Given the description of an element on the screen output the (x, y) to click on. 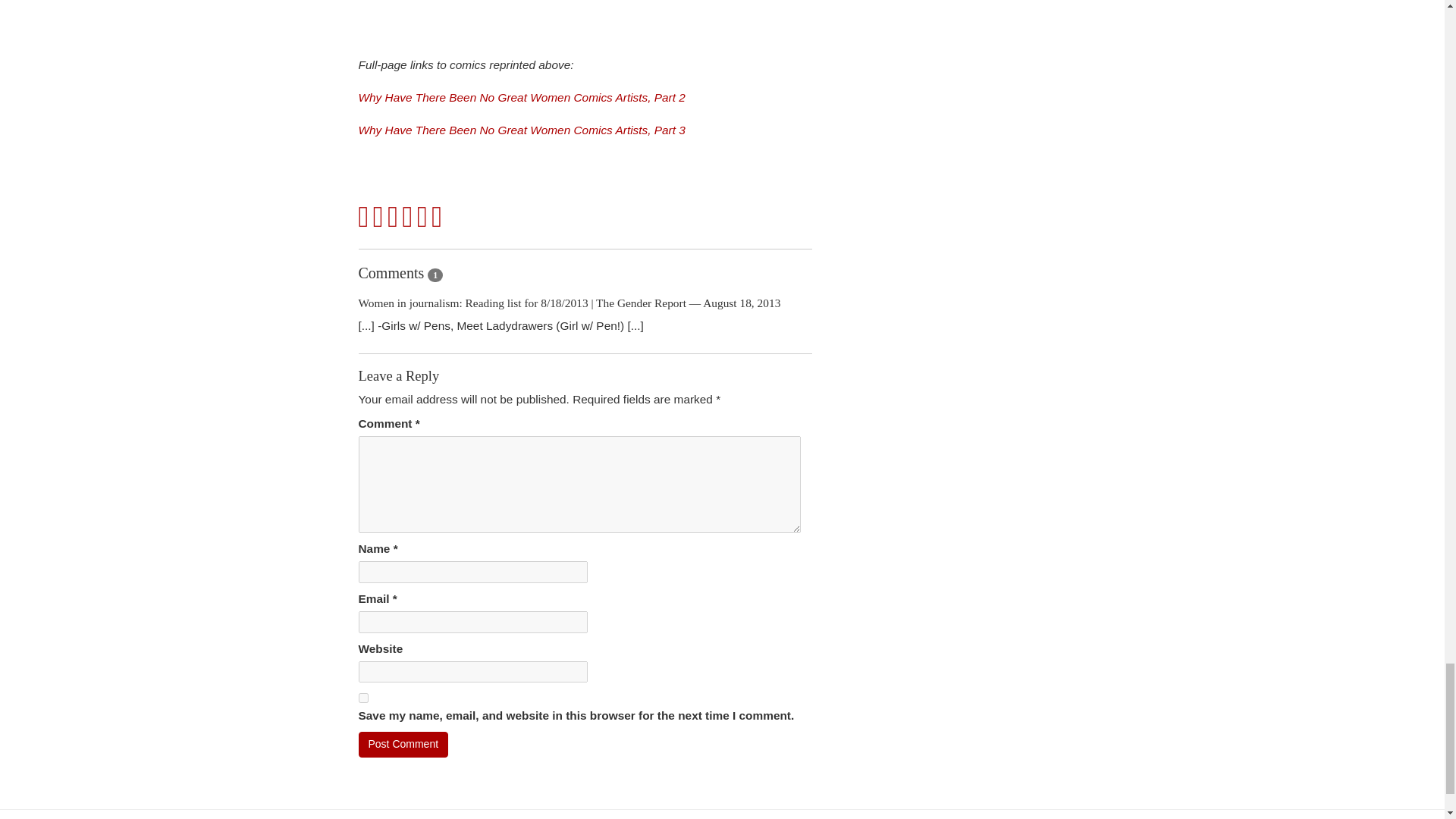
Share on Facebook (363, 216)
Tweet (378, 216)
Email (436, 216)
Post Comment (403, 744)
Post to Tumblr (392, 216)
Pin it (408, 216)
Submit to Reddit (422, 216)
Why Have There Been No Great Women Comics Artists, Part 2 (521, 97)
yes (363, 697)
